Given the description of an element on the screen output the (x, y) to click on. 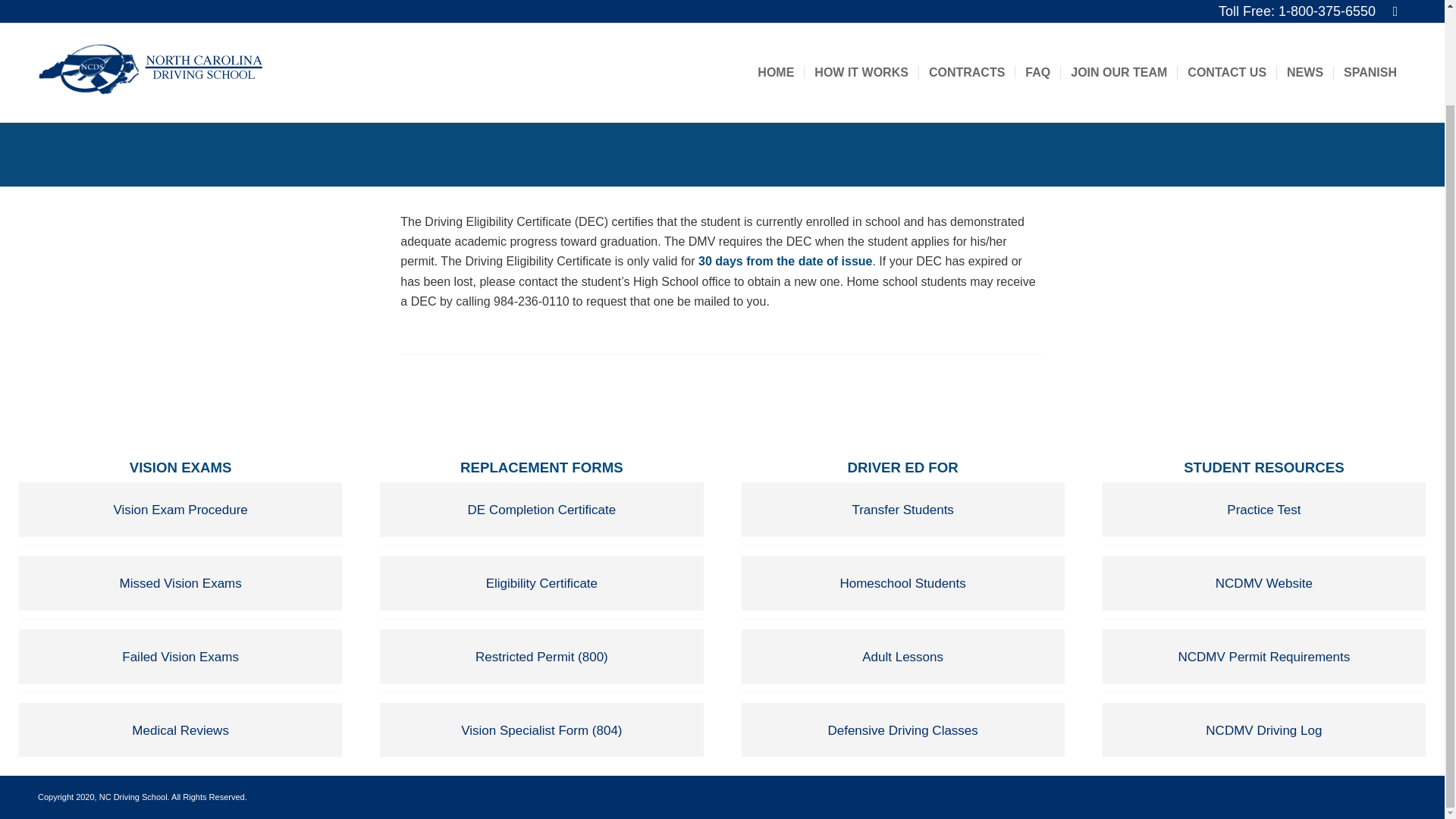
DE Completion Certificate (541, 509)
Eligibility Certificate (541, 583)
NEWS (1304, 6)
Transfer Students (902, 509)
CONTRACTS (966, 6)
FAQ (1036, 6)
Medical Reviews (180, 729)
Practice Test (1263, 509)
Defensive Driving Classes (902, 729)
NCDMV Permit Requirements (1263, 656)
HOW IT WORKS (860, 6)
JOIN OUR TEAM (1117, 6)
Vision Exam Procedure (180, 509)
SPANISH (1369, 6)
NCDMV Website (1263, 583)
